Given the description of an element on the screen output the (x, y) to click on. 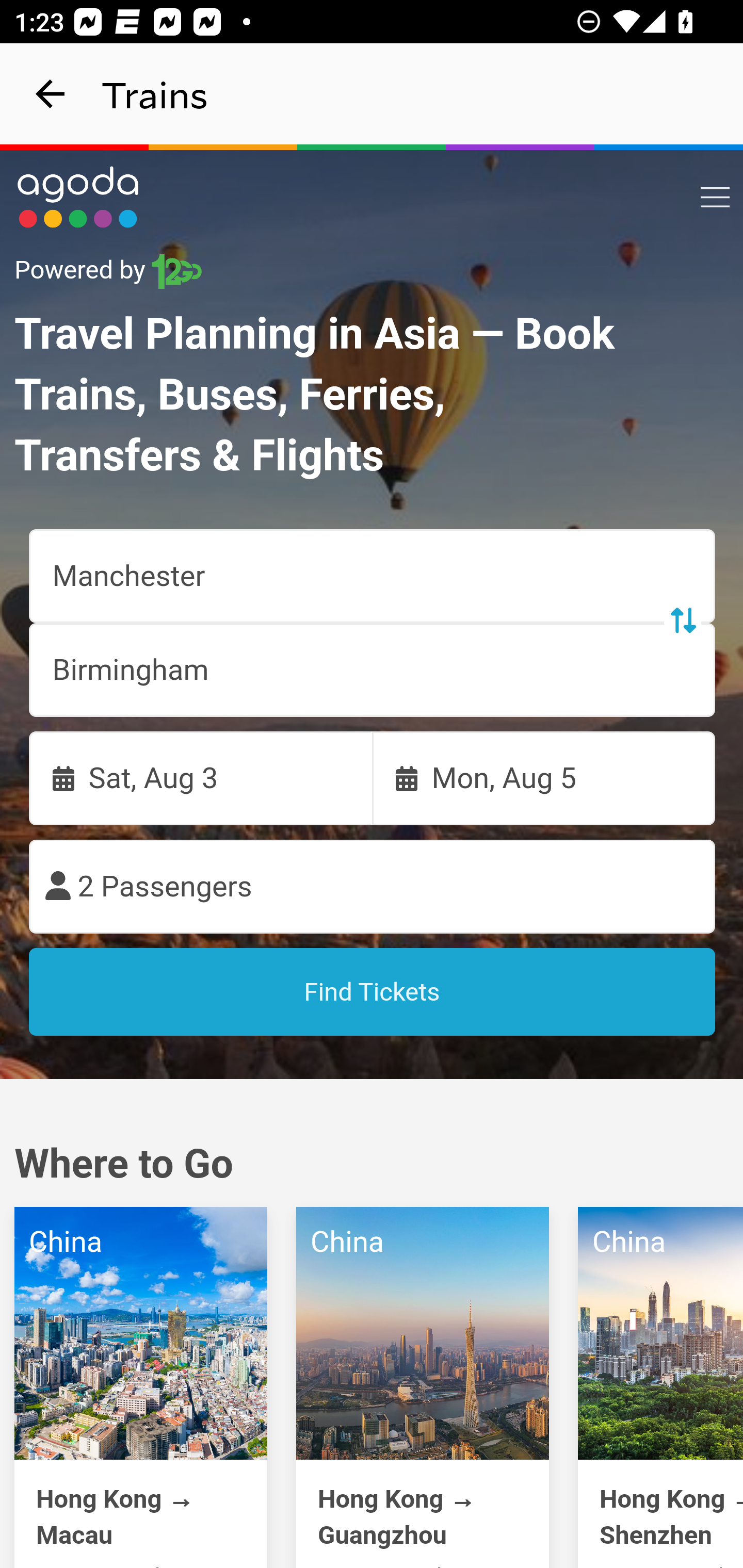
navigation_button (50, 93)
Link to main page 5418 (78, 197)
Manchester Swap trip points (372, 576)
Swap trip points (682, 619)
Birmingham (372, 670)
Sat, Aug 3 Mon, Aug 5 (372, 778)
Sat, Aug 3 (200, 778)
Mon, Aug 5 (544, 778)
 2 Passengers (372, 887)
Find Tickets (372, 992)
